Given the description of an element on the screen output the (x, y) to click on. 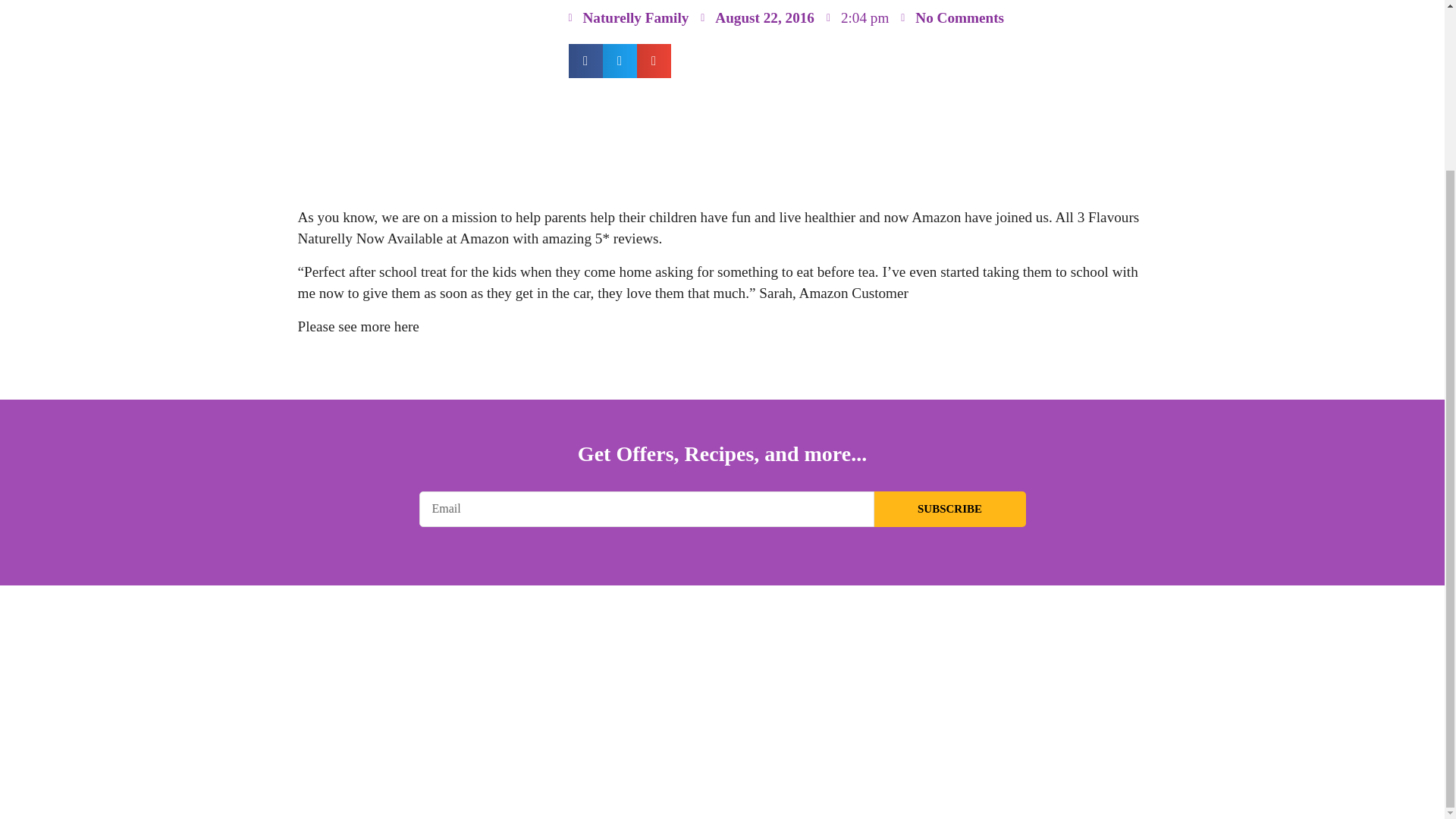
Contact Us (484, 770)
Affiliate Area (952, 770)
No Comments (952, 18)
SUBSCRIBE (949, 509)
Naturelly Family (628, 18)
August 22, 2016 (756, 18)
